Given the description of an element on the screen output the (x, y) to click on. 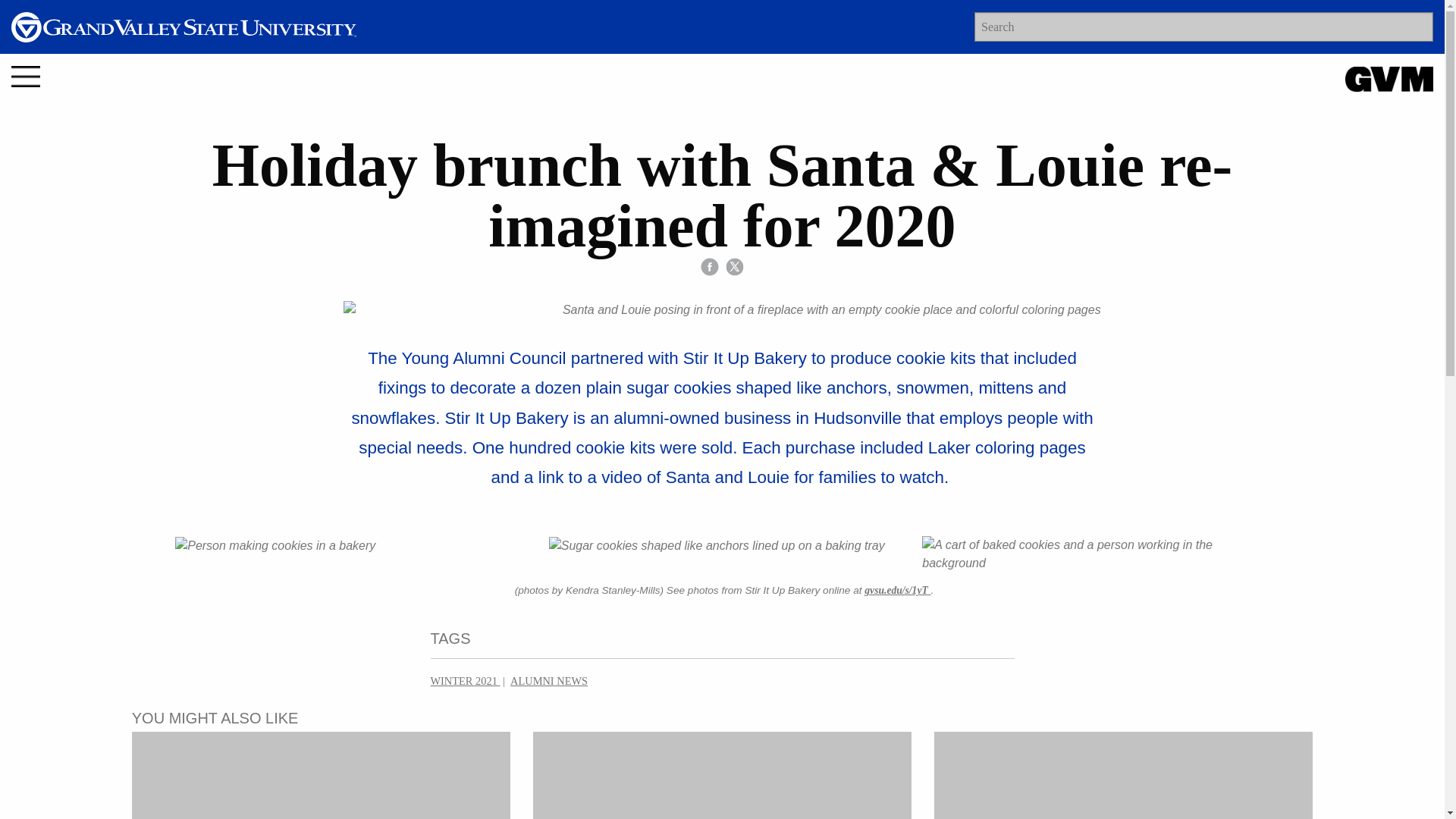
ALUMNI NEWS (549, 680)
GRAND VALLEY MAGAZINE (1388, 78)
WINTER 2021 (465, 680)
